Given the description of an element on the screen output the (x, y) to click on. 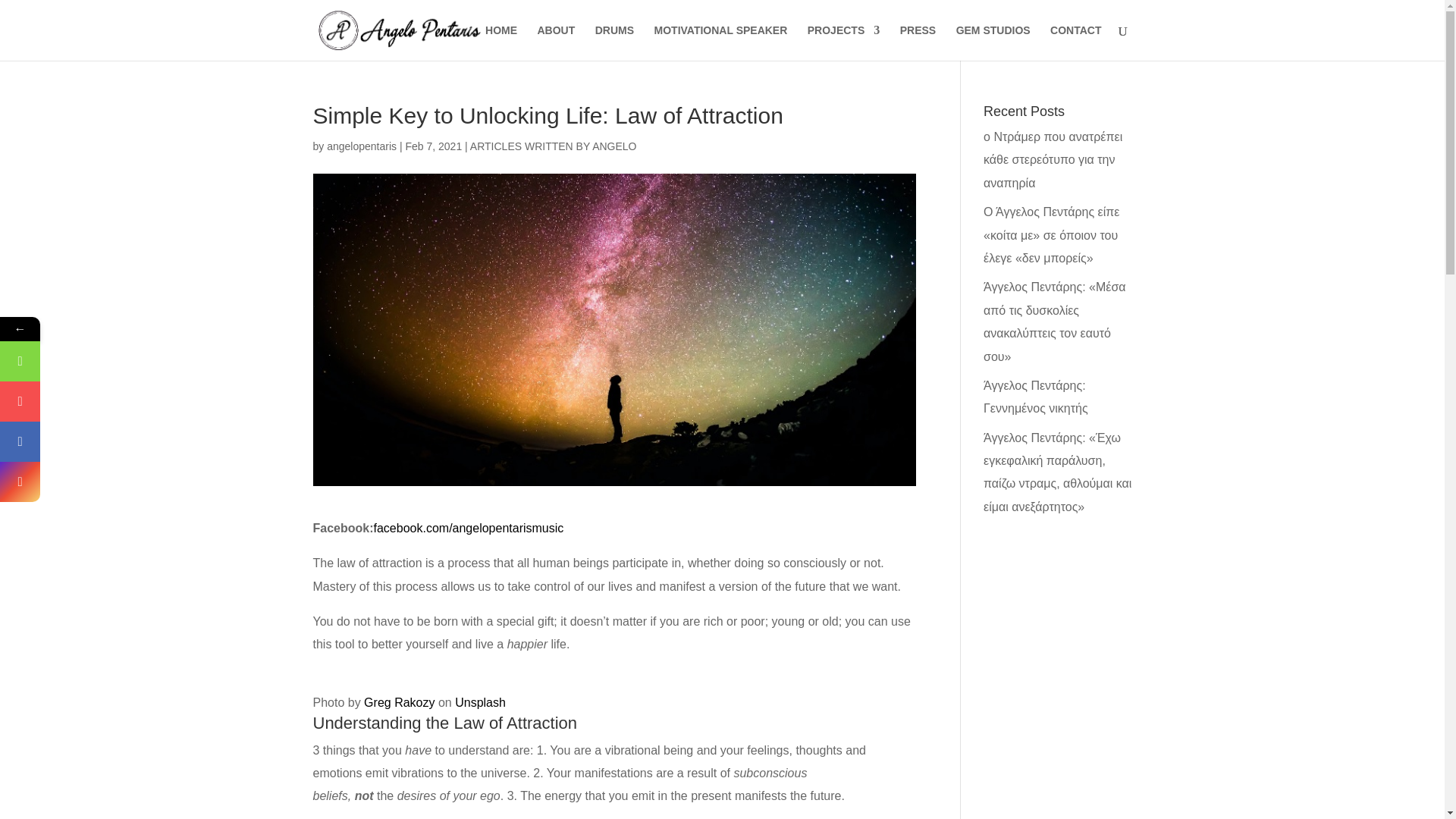
GEM STUDIOS (993, 42)
PRESS (917, 42)
HOME (500, 42)
Facebook (92, 441)
ARTICLES WRITTEN BY ANGELO (553, 146)
Greg Rakozy (398, 702)
ABOUT (556, 42)
MOTIVATIONAL SPEAKER (720, 42)
PROJECTS (843, 42)
Email (92, 361)
